Given the description of an element on the screen output the (x, y) to click on. 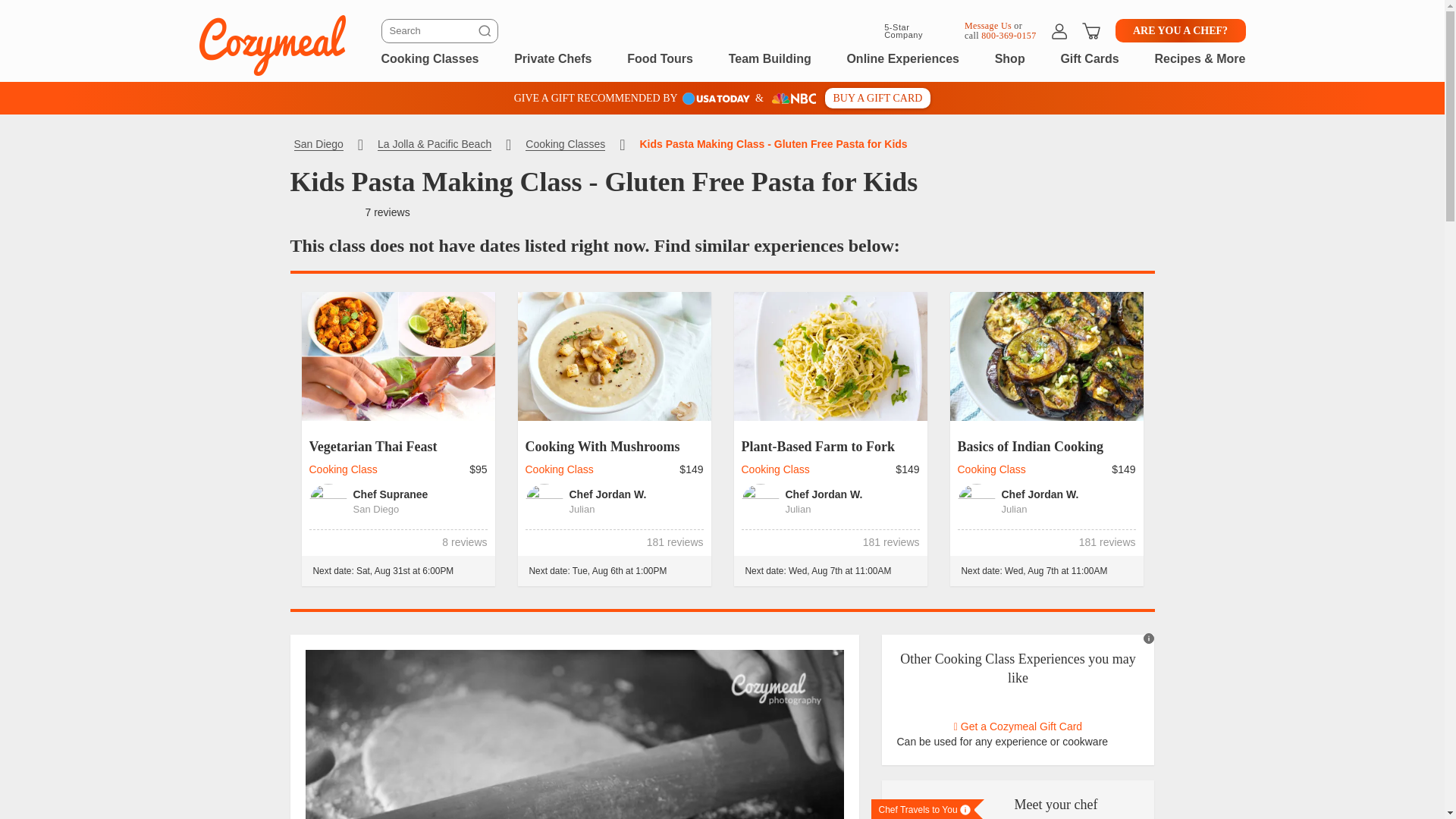
800-369-0157 (1008, 35)
Message Us (987, 24)
Cooking Classes (429, 58)
7 reviews (387, 212)
